Given the description of an element on the screen output the (x, y) to click on. 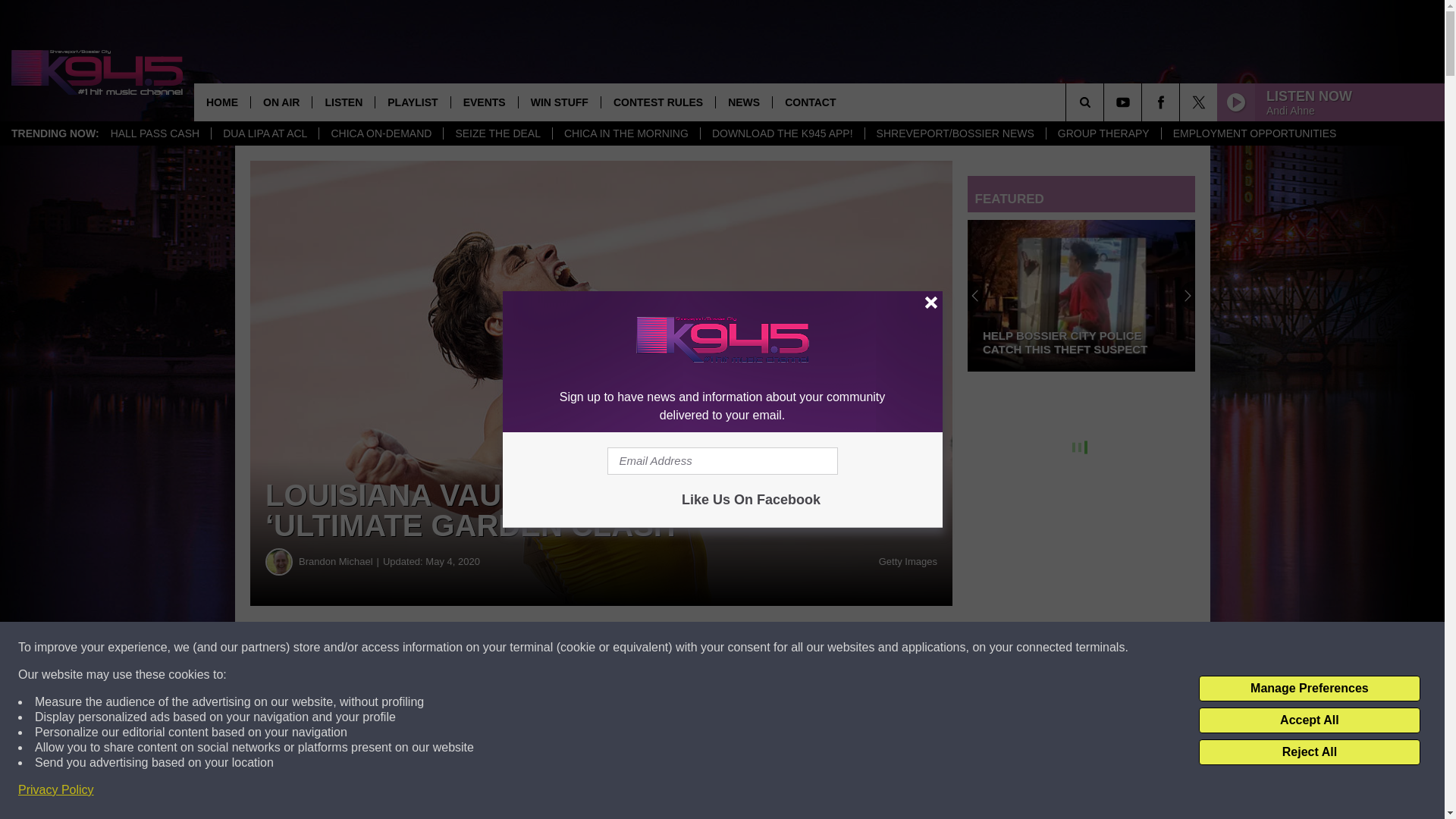
Email Address (722, 461)
Reject All (1309, 751)
DUA LIPA AT ACL (264, 133)
Share on Twitter (741, 647)
Share on Facebook (460, 647)
SEARCH (1106, 102)
LISTEN (342, 102)
DOWNLOAD THE K945 APP! (782, 133)
Accept All (1309, 720)
SEARCH (1106, 102)
EMPLOYMENT OPPORTUNITIES (1254, 133)
CHICA IN THE MORNING (625, 133)
CHICA ON-DEMAND (380, 133)
HALL PASS CASH (155, 133)
HOME (221, 102)
